Given the description of an element on the screen output the (x, y) to click on. 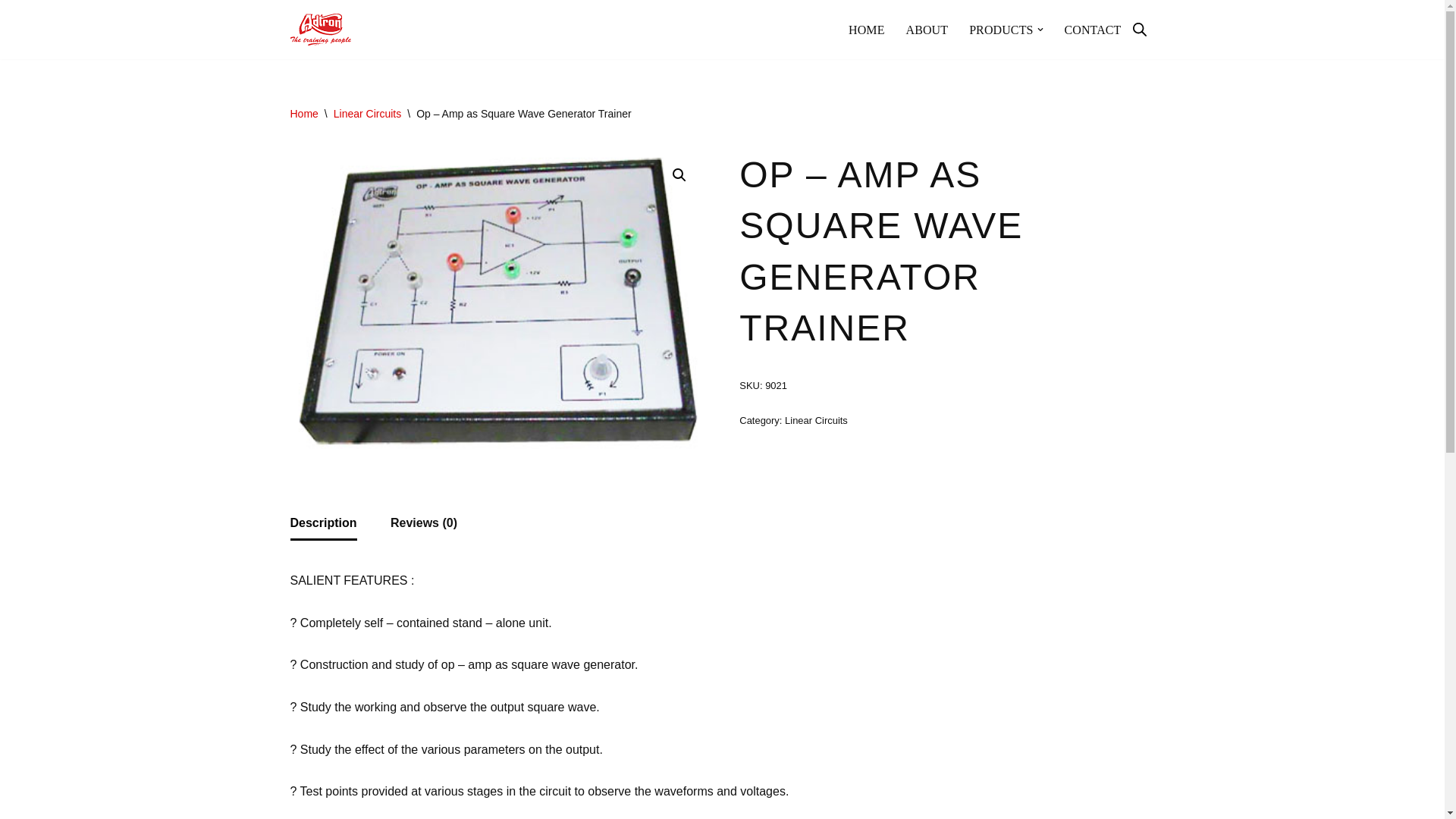
HOME (866, 29)
ABOUT (927, 29)
Home (303, 113)
Skip to content (11, 31)
CONTACT (1092, 29)
PRODUCTS (1000, 29)
Linear Circuits (367, 113)
9021 (496, 300)
Linear Circuits (815, 419)
Description (322, 522)
